Given the description of an element on the screen output the (x, y) to click on. 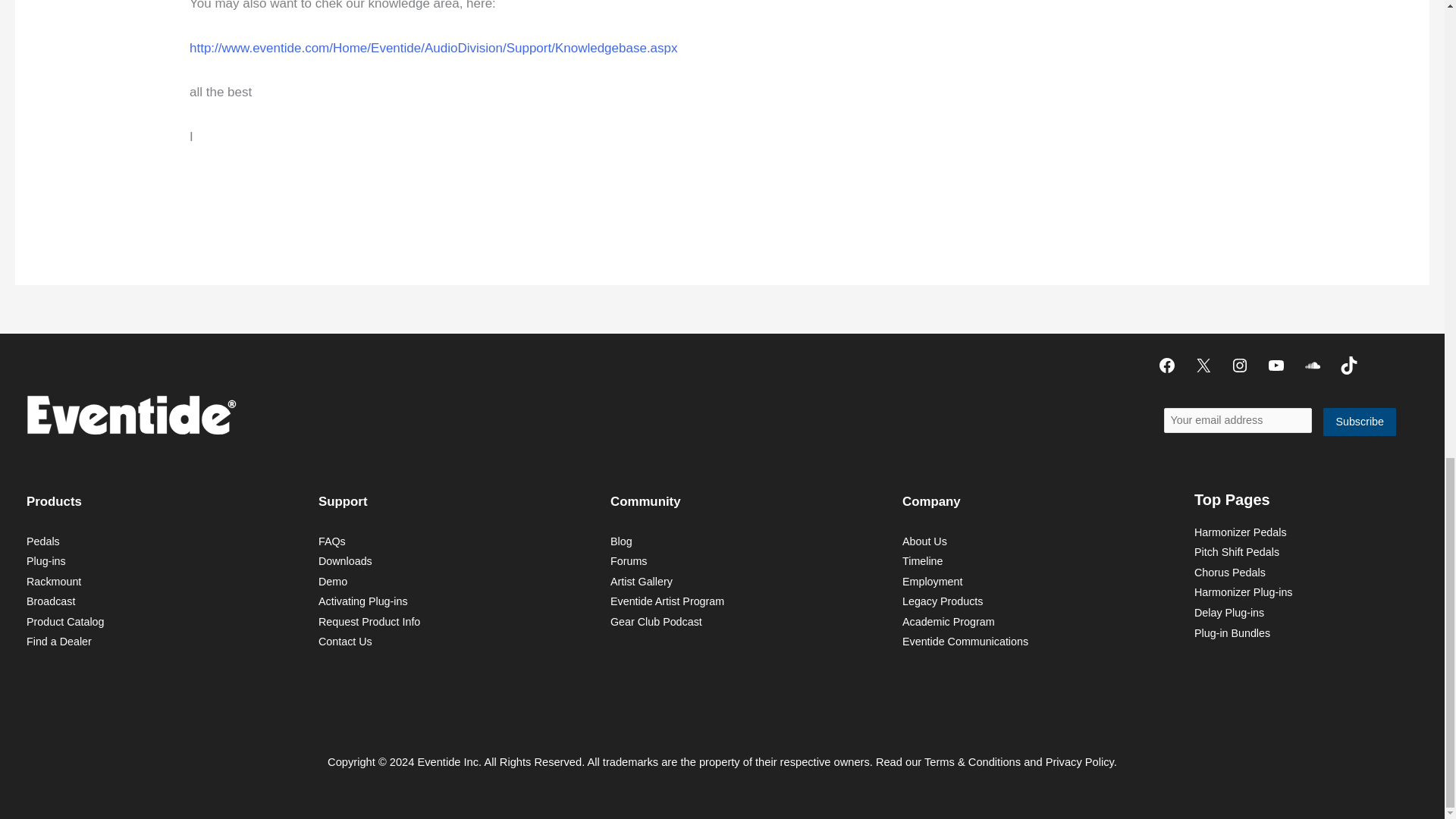
eventide-logo-white (130, 414)
Subscribe (1359, 421)
